Given the description of an element on the screen output the (x, y) to click on. 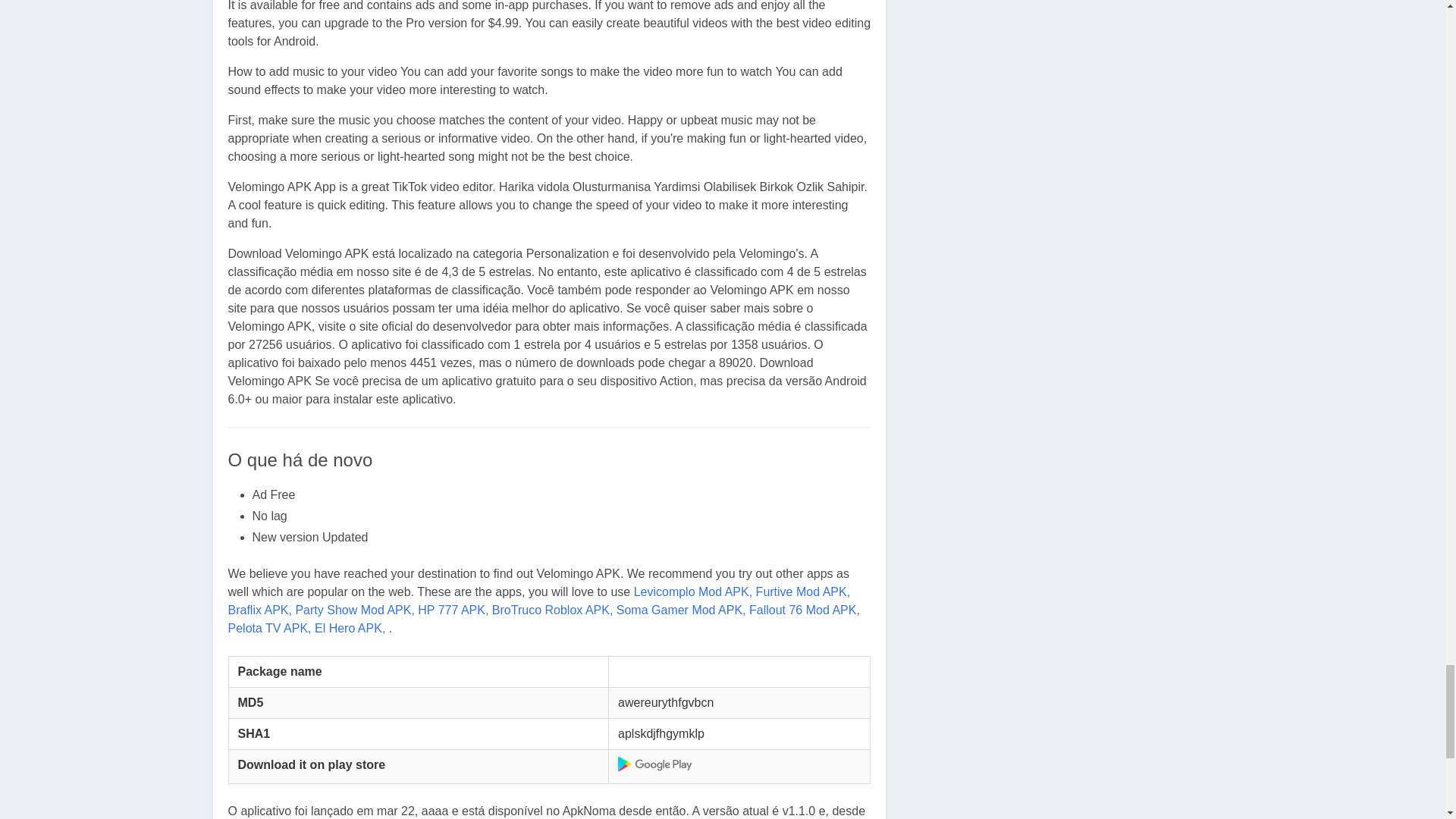
Levicomplo Mod APK APK (692, 591)
El Hero APK APK (349, 627)
Fallout 76 Mod APK APK (804, 609)
Party Show Mod APK APK (354, 609)
Furtive Mod APK APK (802, 591)
Braflix APK APK (259, 609)
HP 777 APK APK (452, 609)
Soma Gamer Mod APK APK (680, 609)
BroTruco Roblox APK APK (552, 609)
Download Velomingo From Play Store (655, 763)
